Given the description of an element on the screen output the (x, y) to click on. 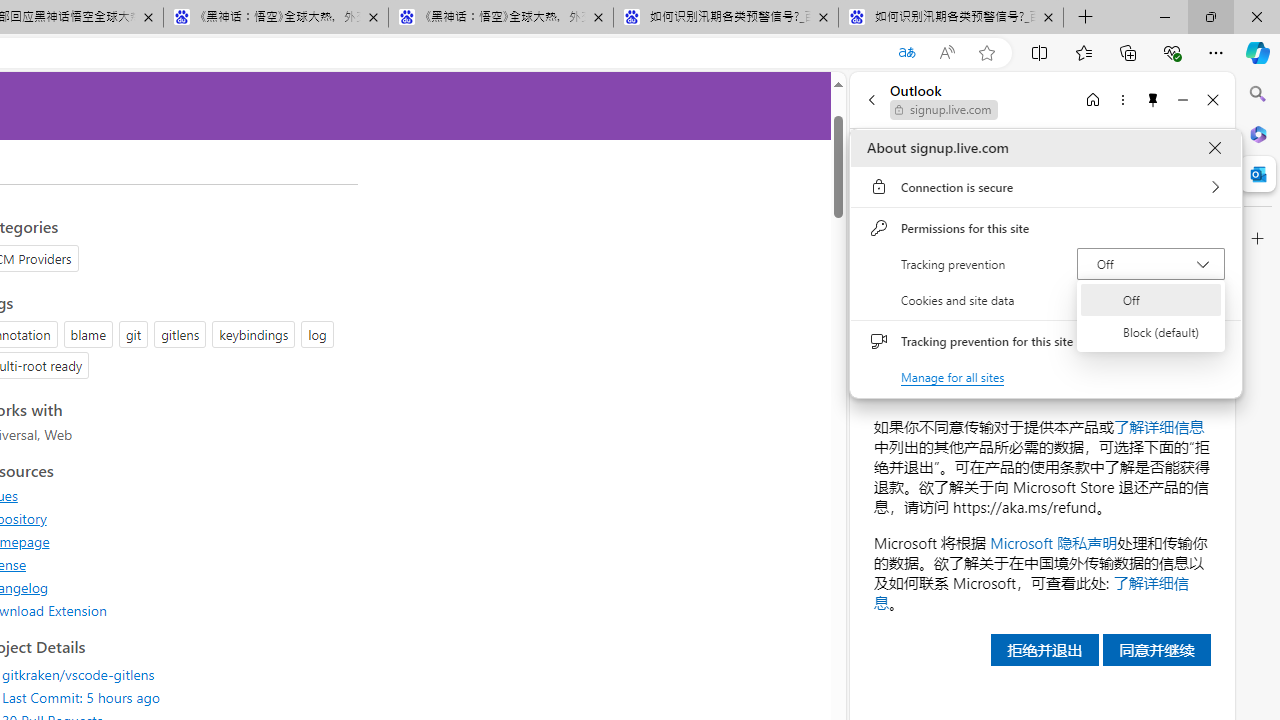
Manage for all sites (952, 376)
Permissions for this site (1046, 228)
Cookies and site data (1046, 300)
Off (1151, 299)
Block (default) (1151, 331)
Connection is secure (1046, 187)
Tracking prevention Off (1150, 263)
Tracking prevention for this site (Balanced) (1204, 341)
About signup.live.com (1214, 147)
